Given the description of an element on the screen output the (x, y) to click on. 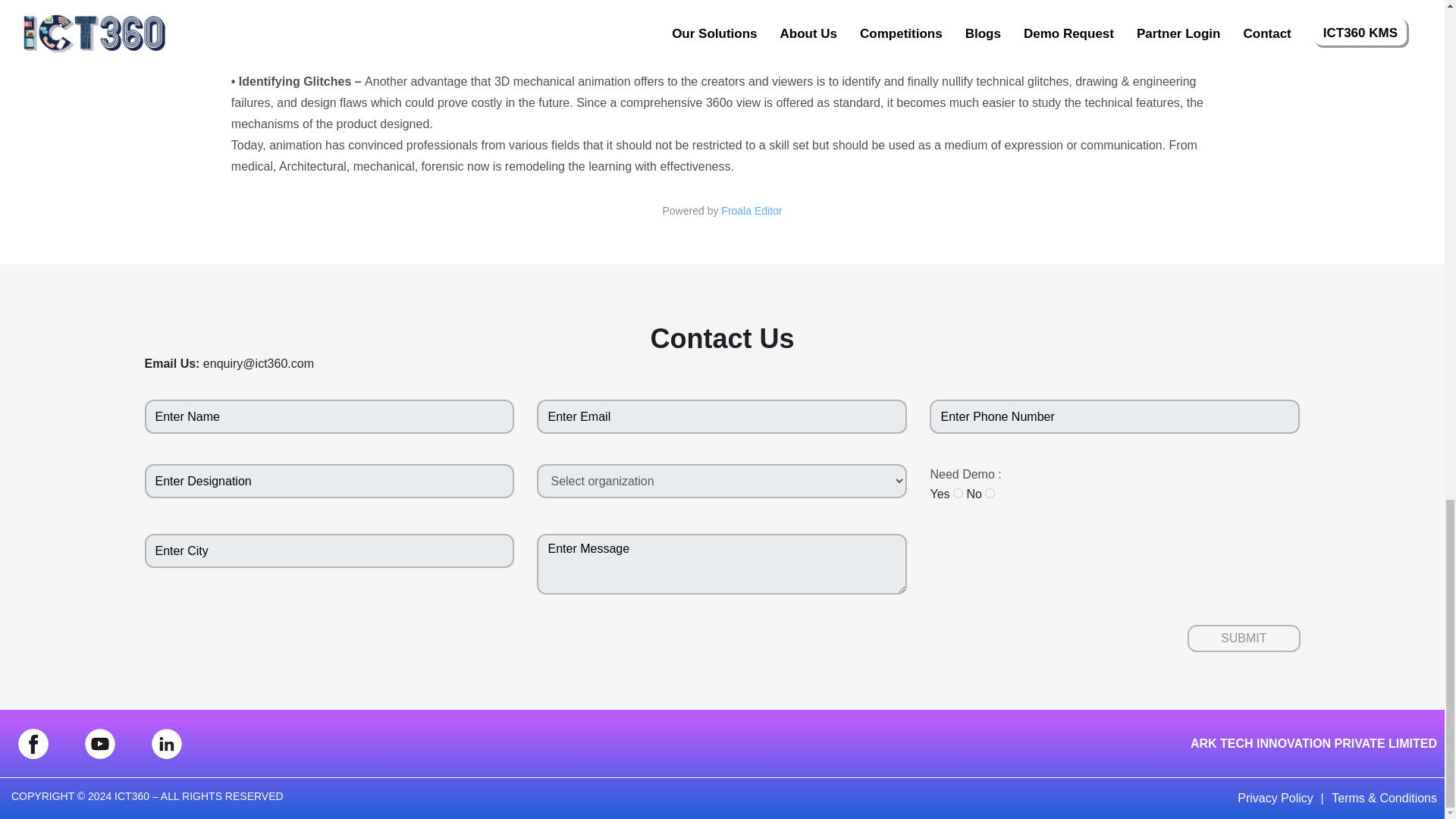
Privacy Policy (1275, 798)
SUBMIT (1244, 637)
No (989, 492)
Froala Editor (750, 210)
Yes (957, 492)
Froala Editor (750, 210)
